Given the description of an element on the screen output the (x, y) to click on. 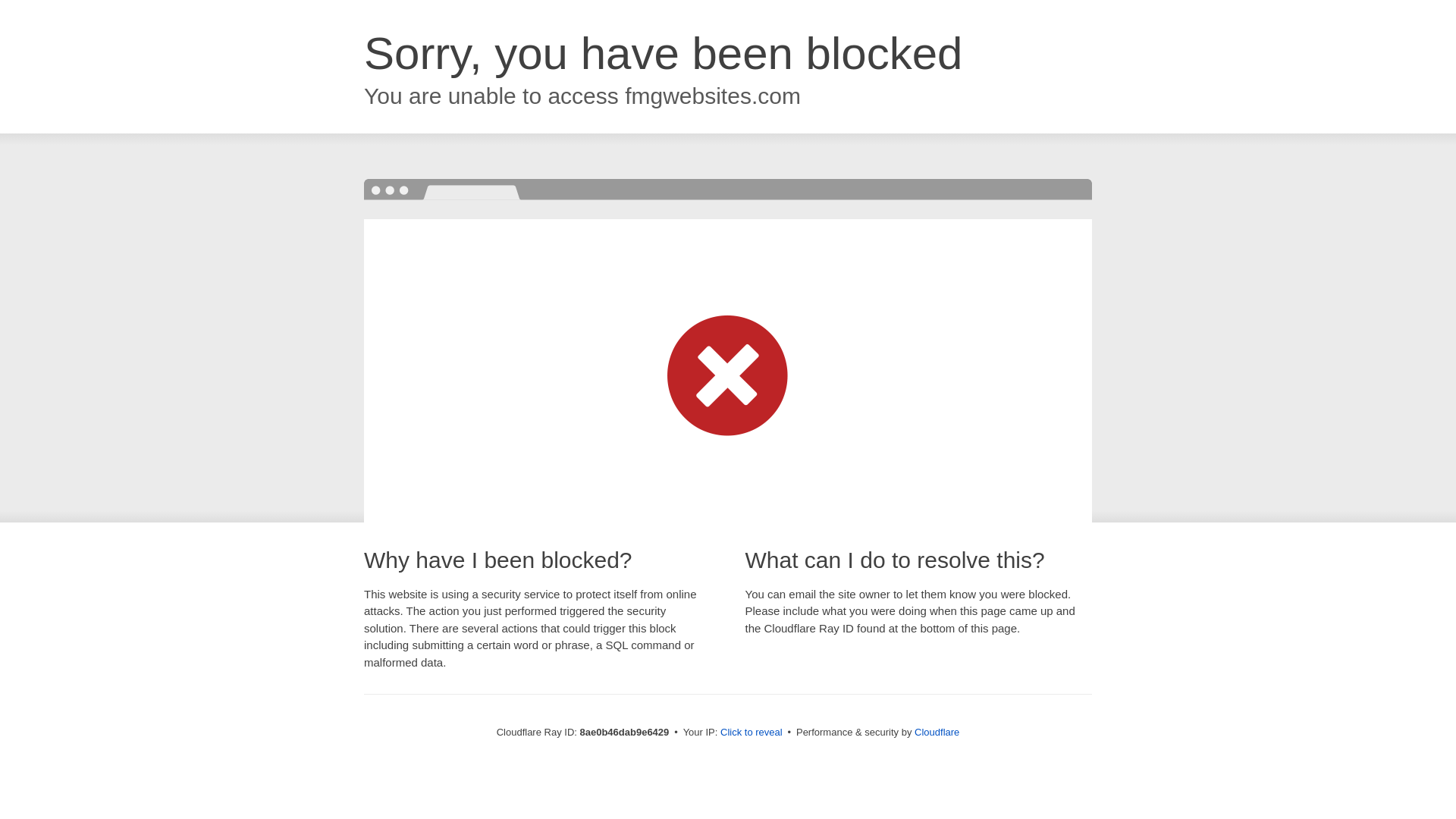
Cloudflare (936, 731)
Click to reveal (751, 732)
